Given the description of an element on the screen output the (x, y) to click on. 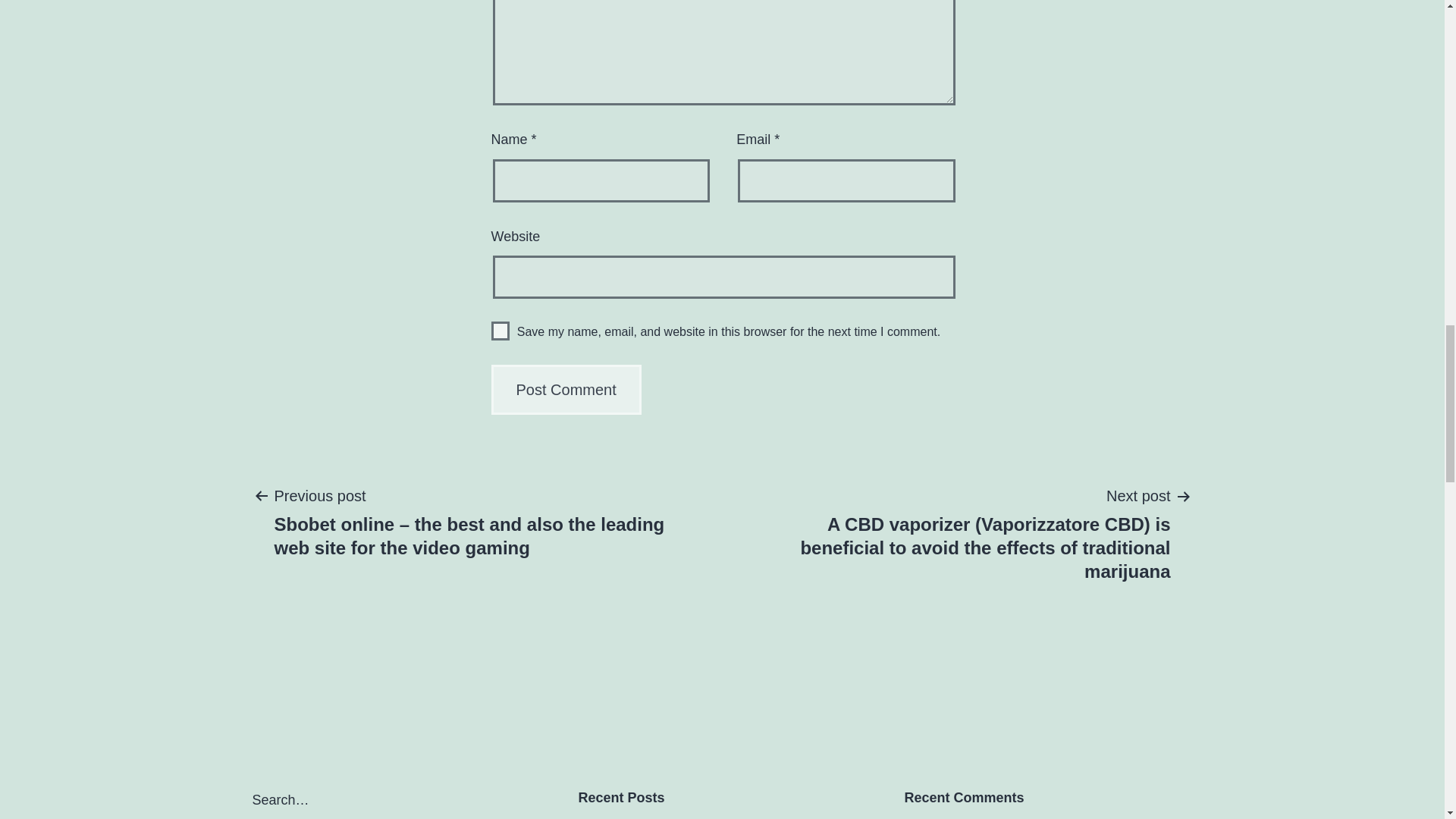
yes (500, 330)
Post Comment (567, 389)
Post Comment (567, 389)
